Given the description of an element on the screen output the (x, y) to click on. 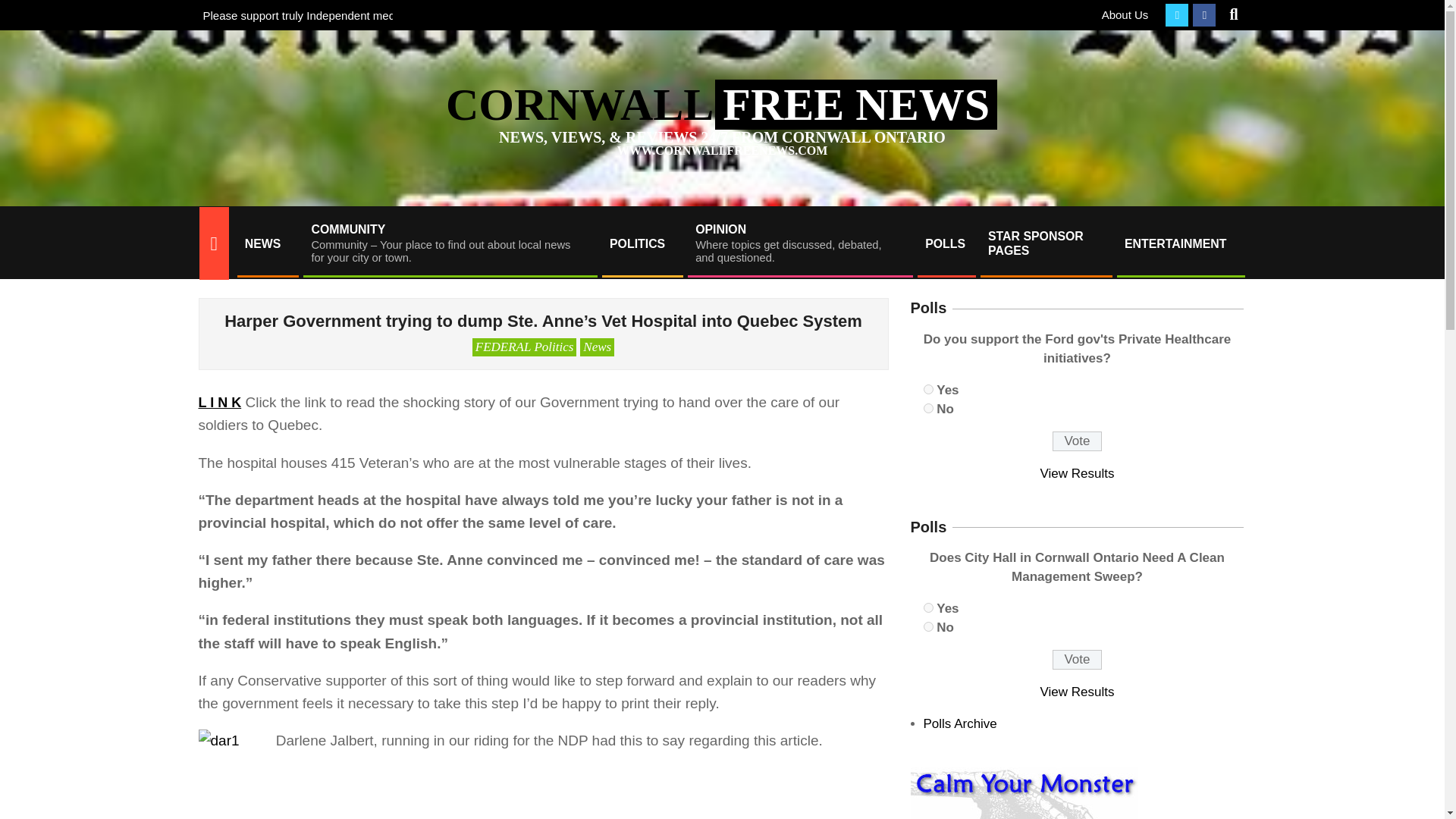
POLLS (945, 243)
View Results Of This Poll (1078, 691)
About Us (1125, 14)
POLITICS (641, 243)
View Results Of This Poll (1078, 473)
1770 (928, 607)
1776 (928, 388)
1777 (928, 408)
1771 (928, 626)
   Vote    (1076, 441)
STAR SPONSOR PAGES (1044, 243)
ENTERTAINMENT (1179, 243)
Search (24, 9)
   Vote    (1076, 659)
NEWS (265, 243)
